Given the description of an element on the screen output the (x, y) to click on. 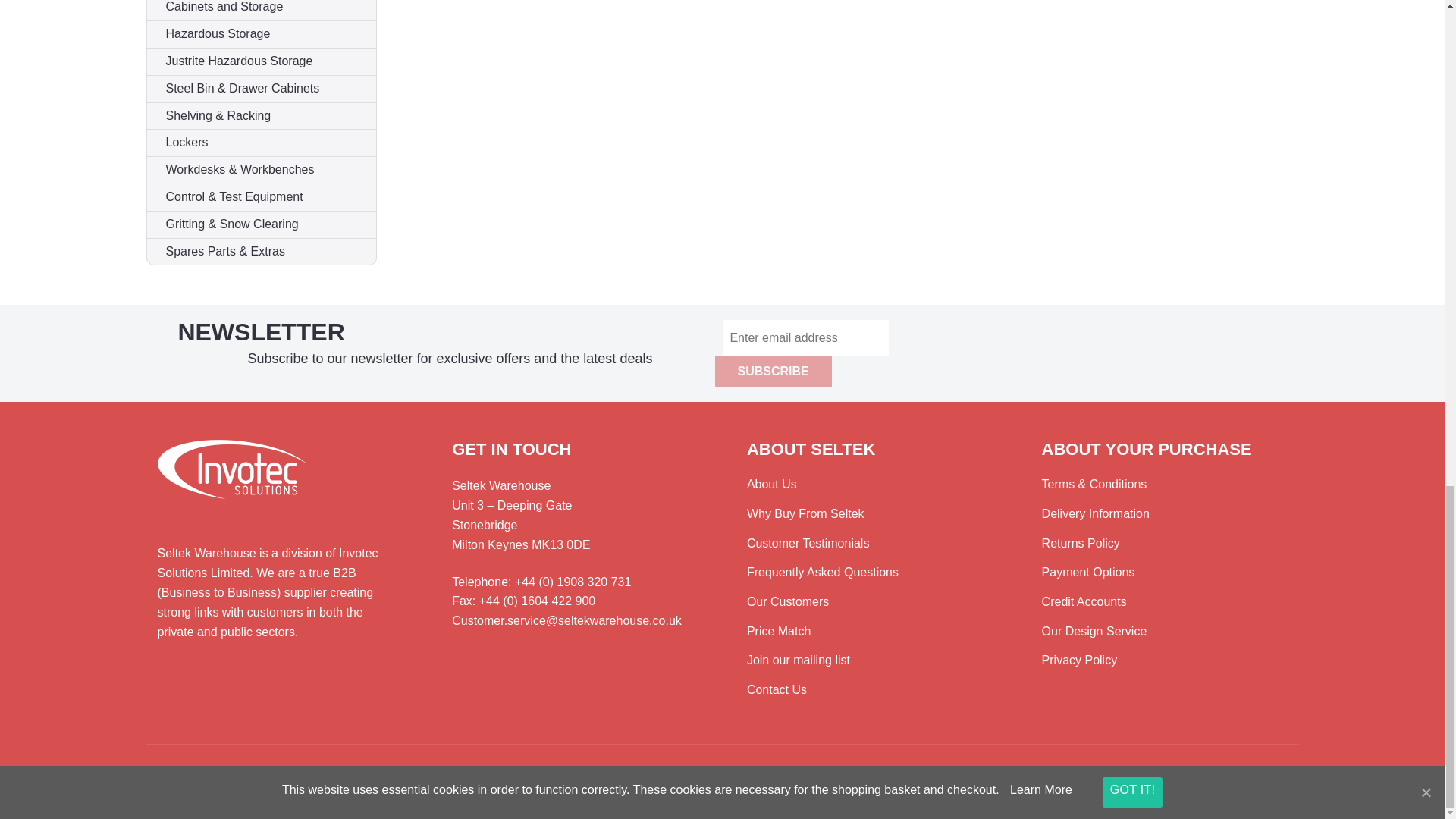
Subscribe (772, 371)
